Given the description of an element on the screen output the (x, y) to click on. 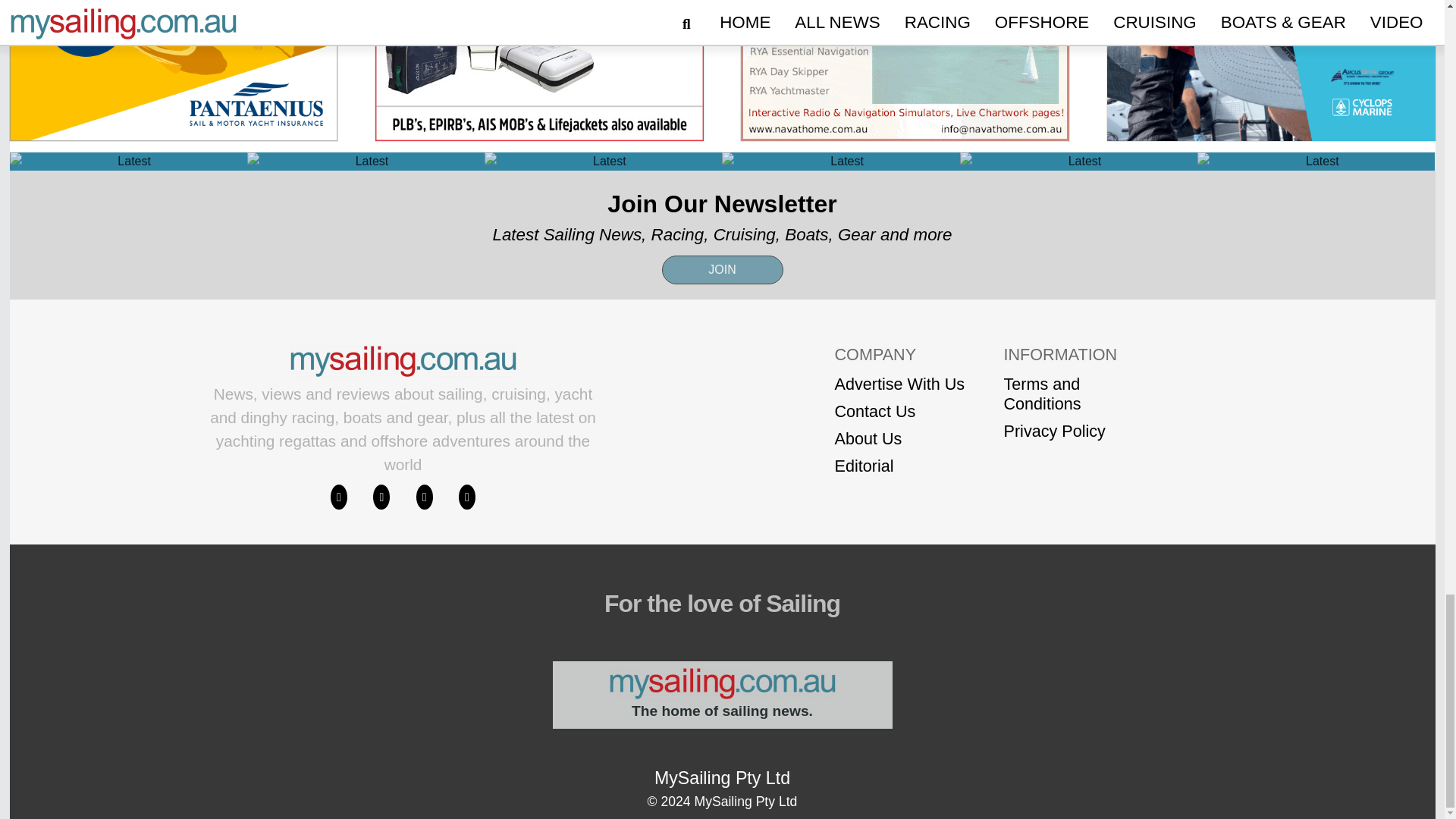
Advertise With Us (899, 397)
Contact Us (899, 424)
About Us (899, 452)
Editorial (899, 479)
